Given the description of an element on the screen output the (x, y) to click on. 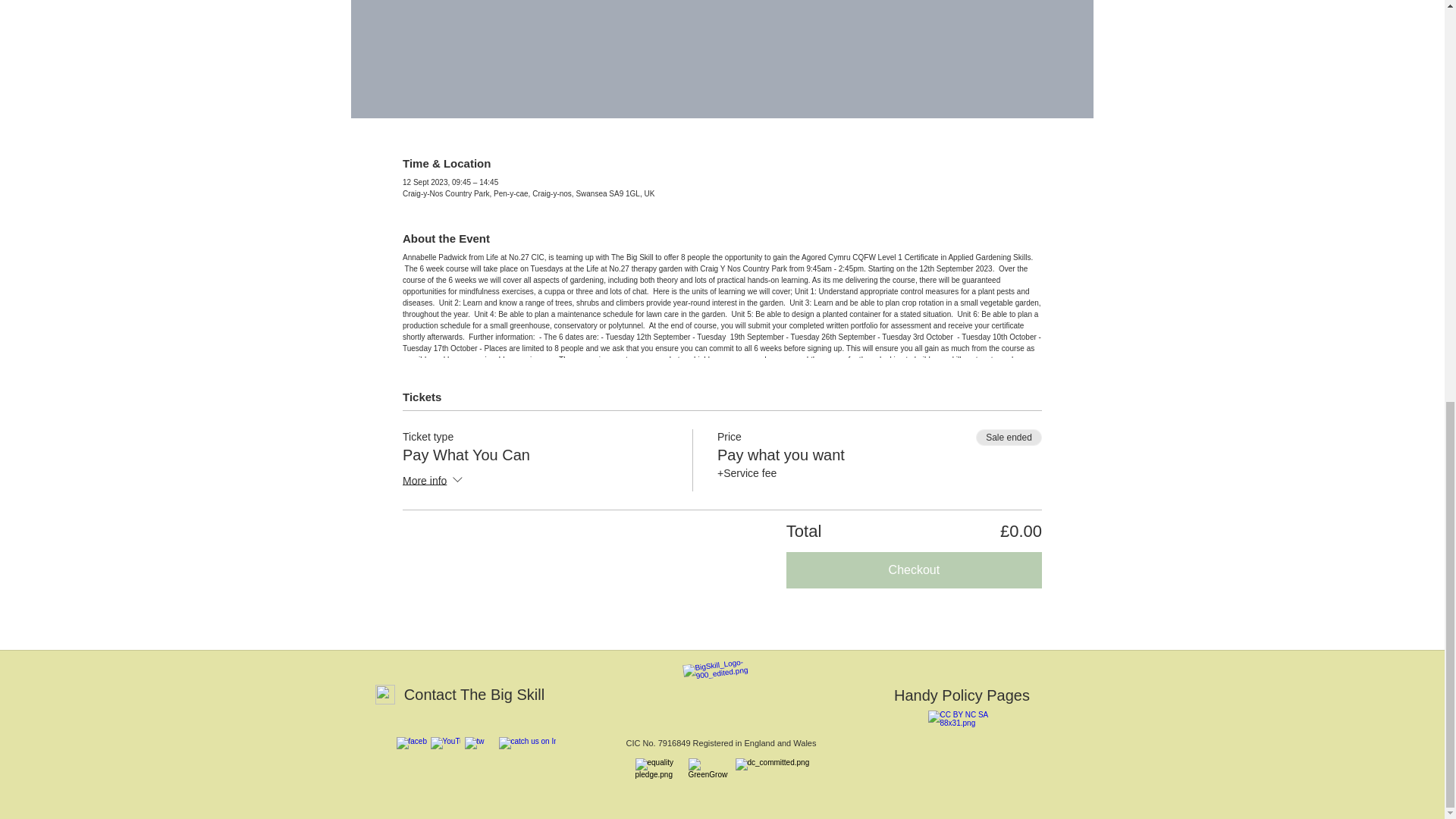
More info (434, 481)
Checkout (914, 570)
Contact The Big Skill (474, 694)
Handy Policy Pages (960, 695)
